Given the description of an element on the screen output the (x, y) to click on. 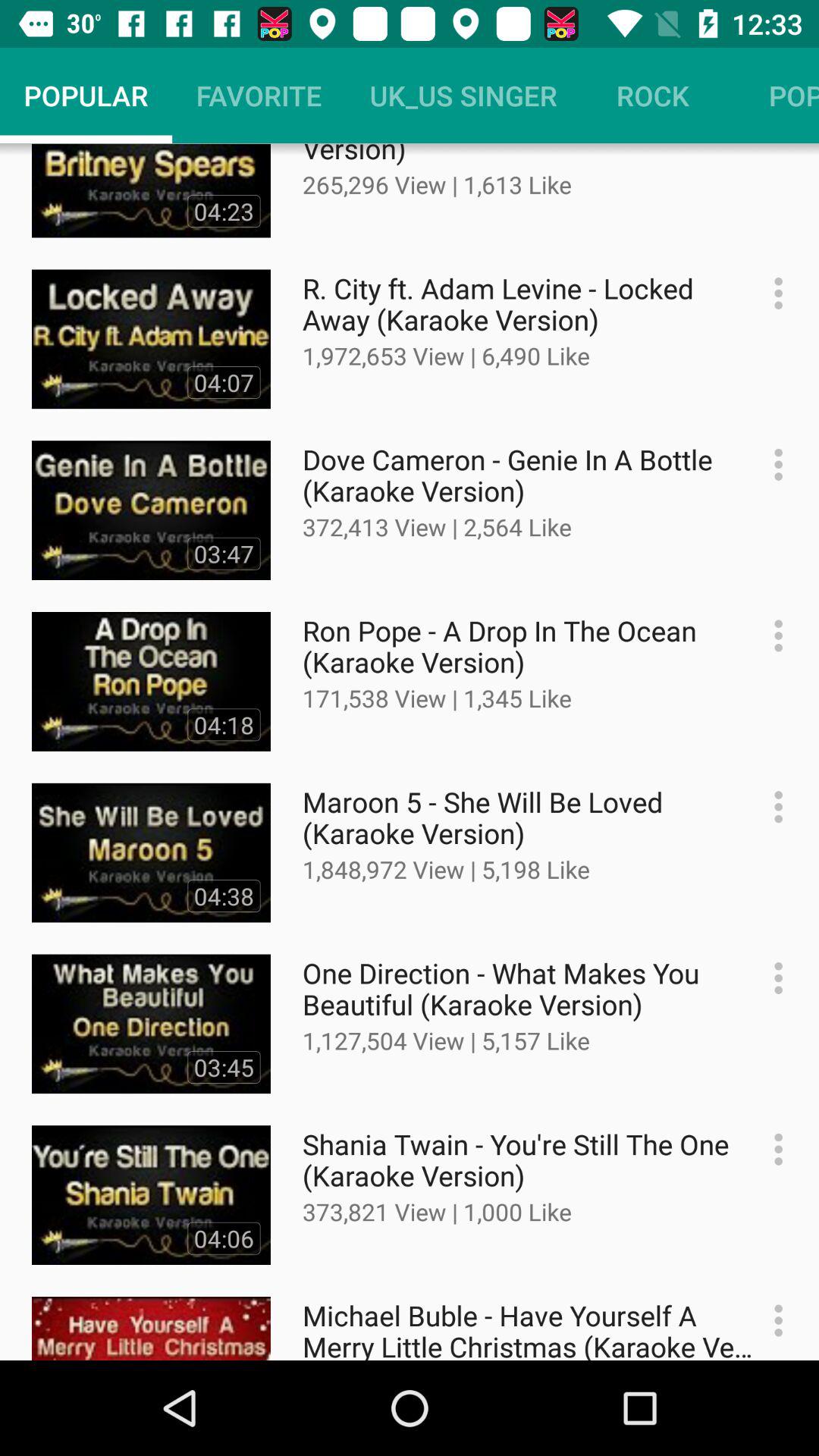
show more information (770, 635)
